Given the description of an element on the screen output the (x, y) to click on. 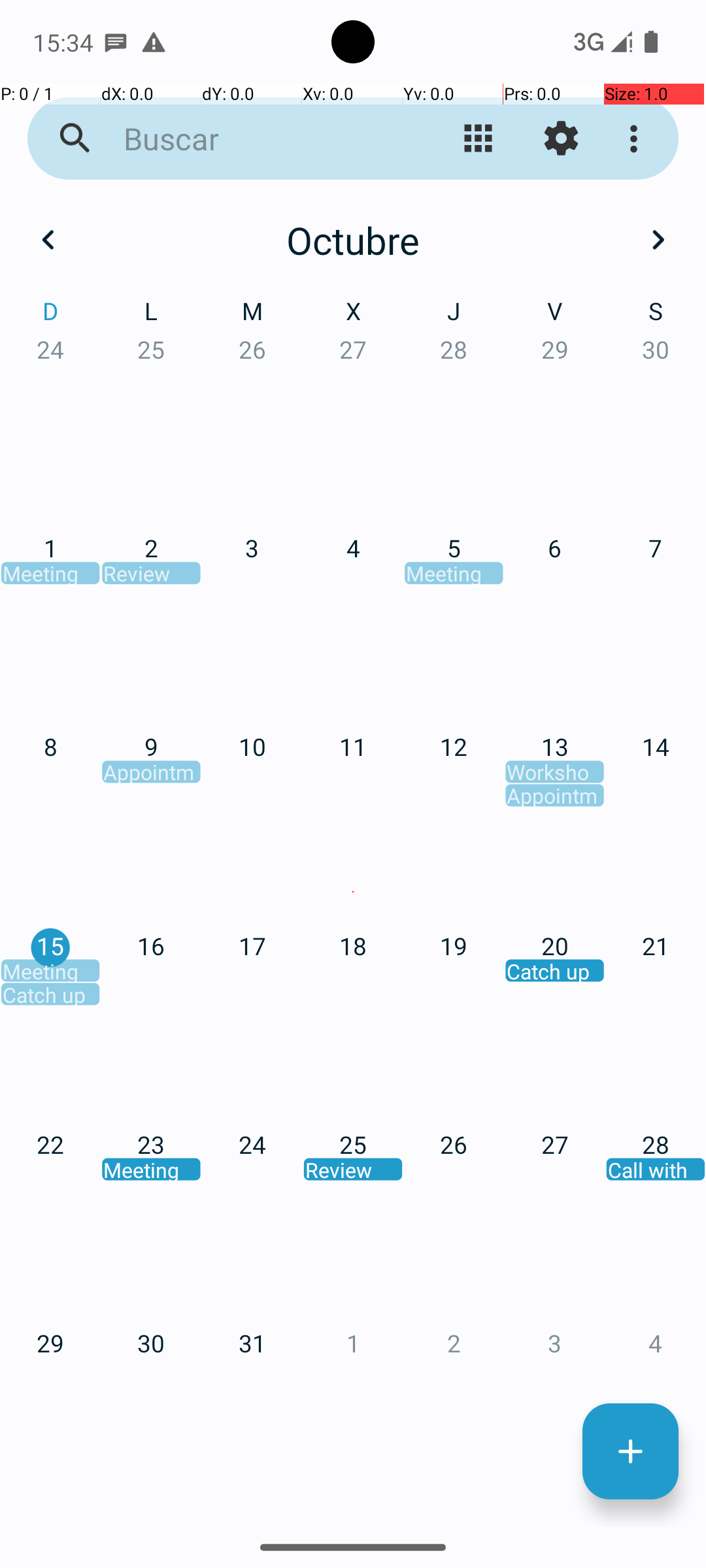
Octubre Element type: android.widget.TextView (352, 239)
